Given the description of an element on the screen output the (x, y) to click on. 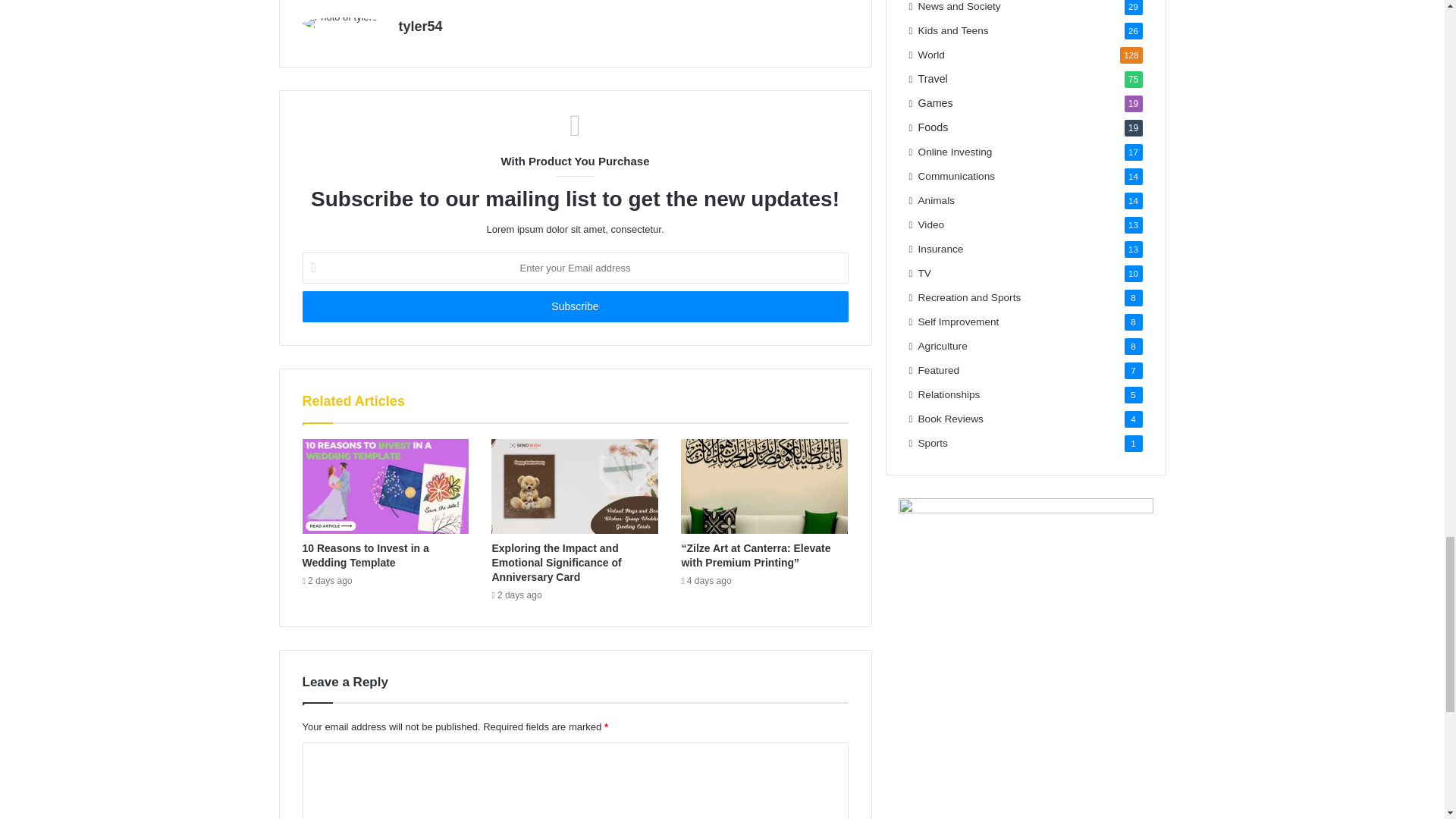
Subscribe (574, 306)
